Given the description of an element on the screen output the (x, y) to click on. 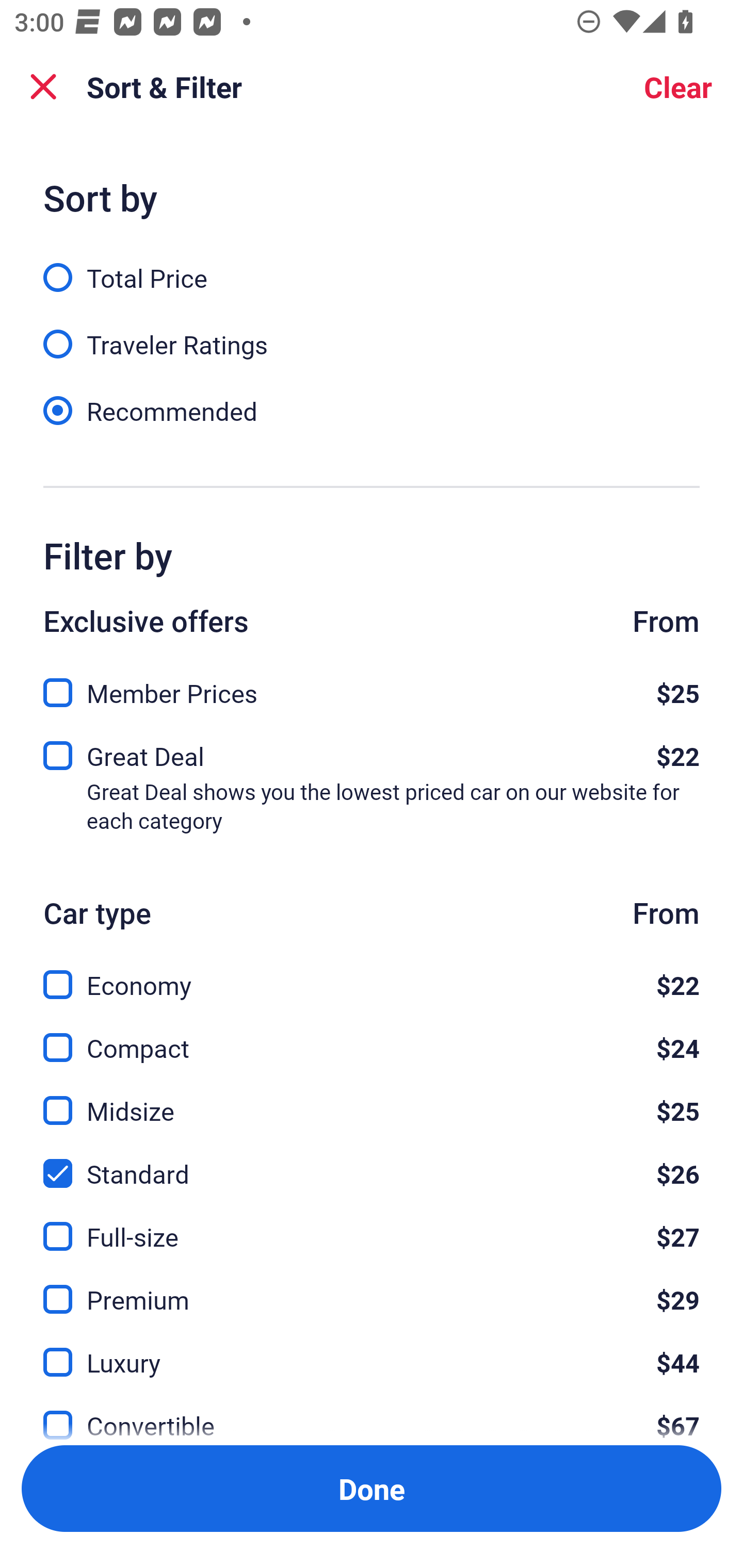
Close Sort and Filter (43, 86)
Clear (677, 86)
Total Price (371, 266)
Traveler Ratings (371, 332)
Member Prices, $25 Member Prices $25 (371, 686)
Economy, $22 Economy $22 (371, 973)
Compact, $24 Compact $24 (371, 1036)
Midsize, $25 Midsize $25 (371, 1098)
Standard, $26 Standard $26 (371, 1161)
Full-size, $27 Full-size $27 (371, 1224)
Premium, $29 Premium $29 (371, 1286)
Luxury, $44 Luxury $44 (371, 1350)
Convertible, $67 Convertible $67 (371, 1413)
Apply and close Sort and Filter Done (371, 1488)
